Given the description of an element on the screen output the (x, y) to click on. 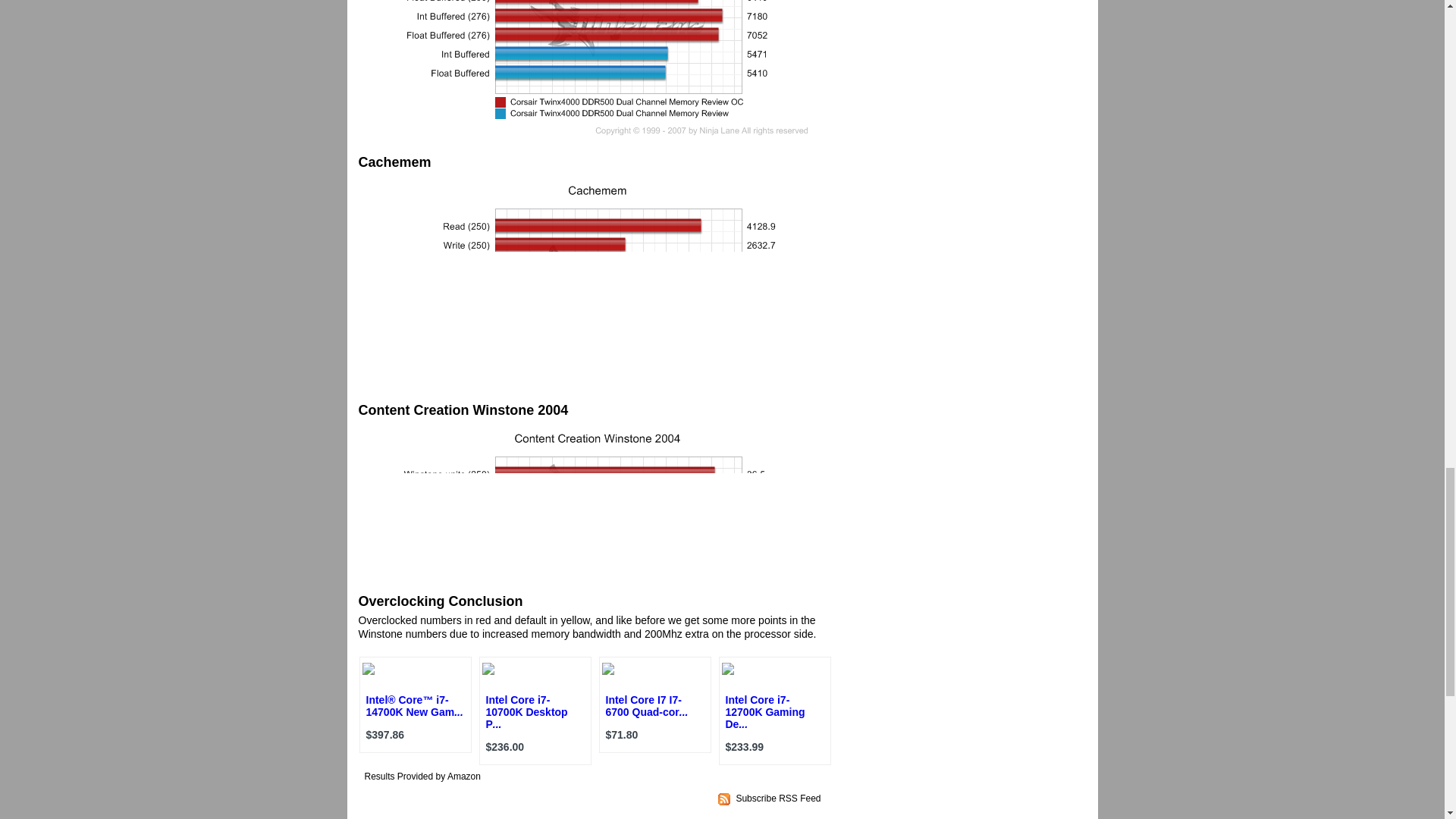
Intel Core I7 I7-6700 Quad-cor... (646, 705)
Intel Core i7-12700K Gaming De... (765, 711)
Subscribe RSS Feed (778, 798)
Hardware Asylum RSS Feed (778, 798)
Intel Core i7-10700K Desktop P... (525, 711)
